Given the description of an element on the screen output the (x, y) to click on. 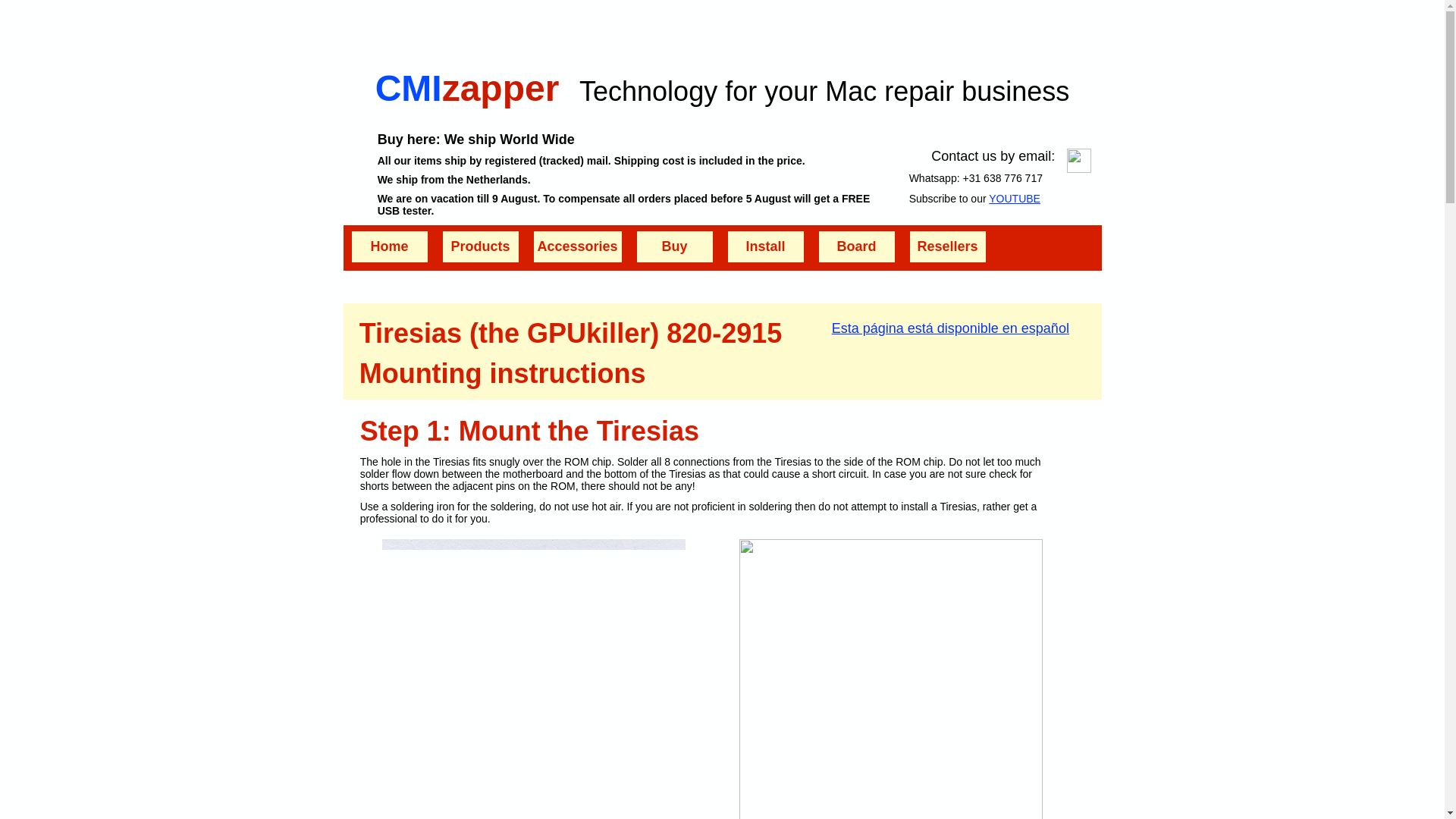
Buy (675, 246)
Products (480, 246)
Accessories (577, 246)
Home (390, 246)
Install (765, 246)
